Given the description of an element on the screen output the (x, y) to click on. 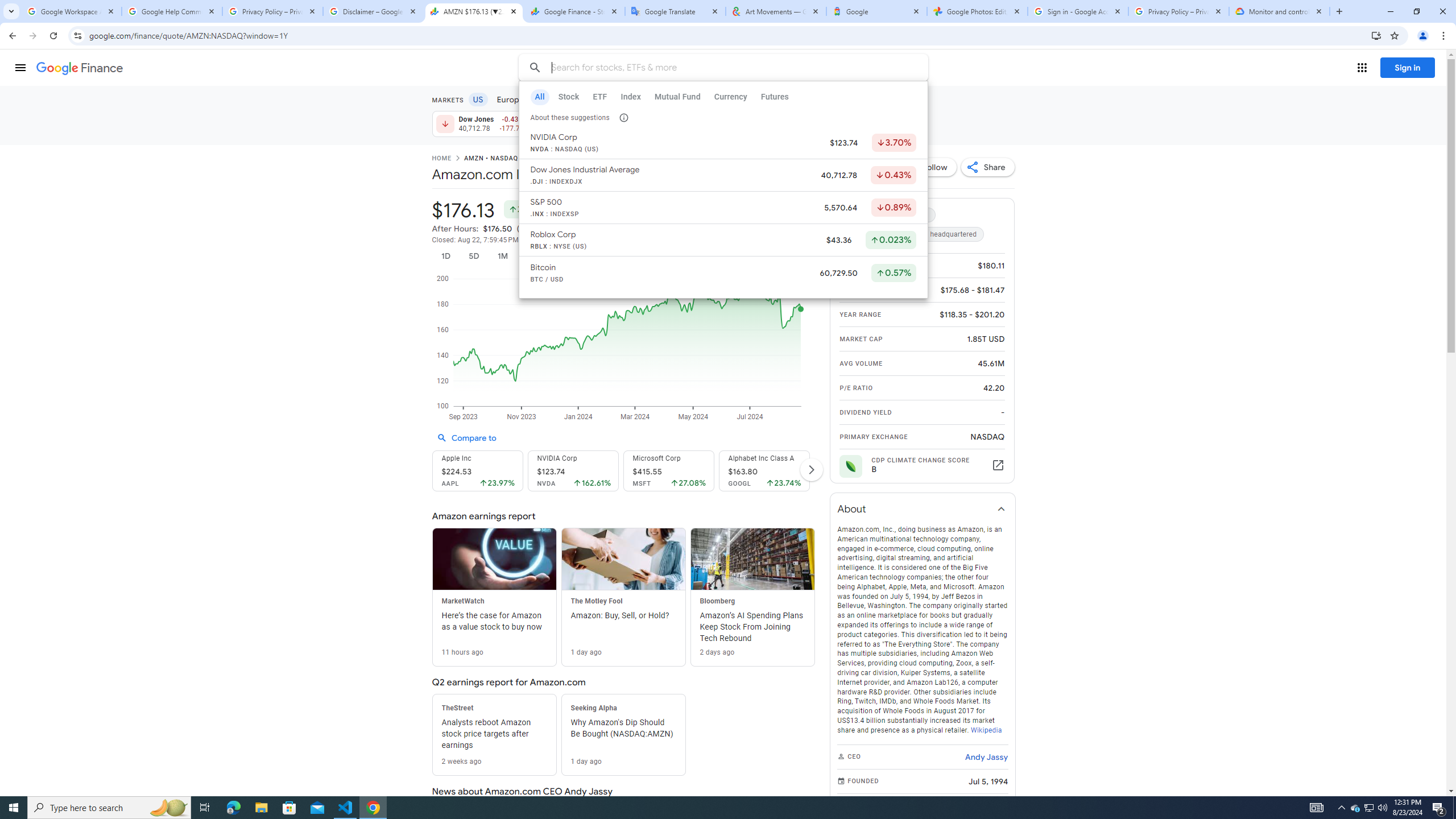
Google Translate (675, 11)
The Motley Fool Amazon: Buy, Sell, or Hold? 1 day ago (623, 596)
S&P 500 .INX : INDEXSP 5,570.64 Down by 0.89% (722, 207)
Install Google Finance (1376, 35)
Stock (568, 96)
Roblox Corp RBLX : NYSE (US) $43.36 Up by 0.023% (722, 240)
MAX (653, 255)
1Y (594, 255)
Share (987, 167)
Currency (730, 96)
Wikipedia (985, 729)
